Given the description of an element on the screen output the (x, y) to click on. 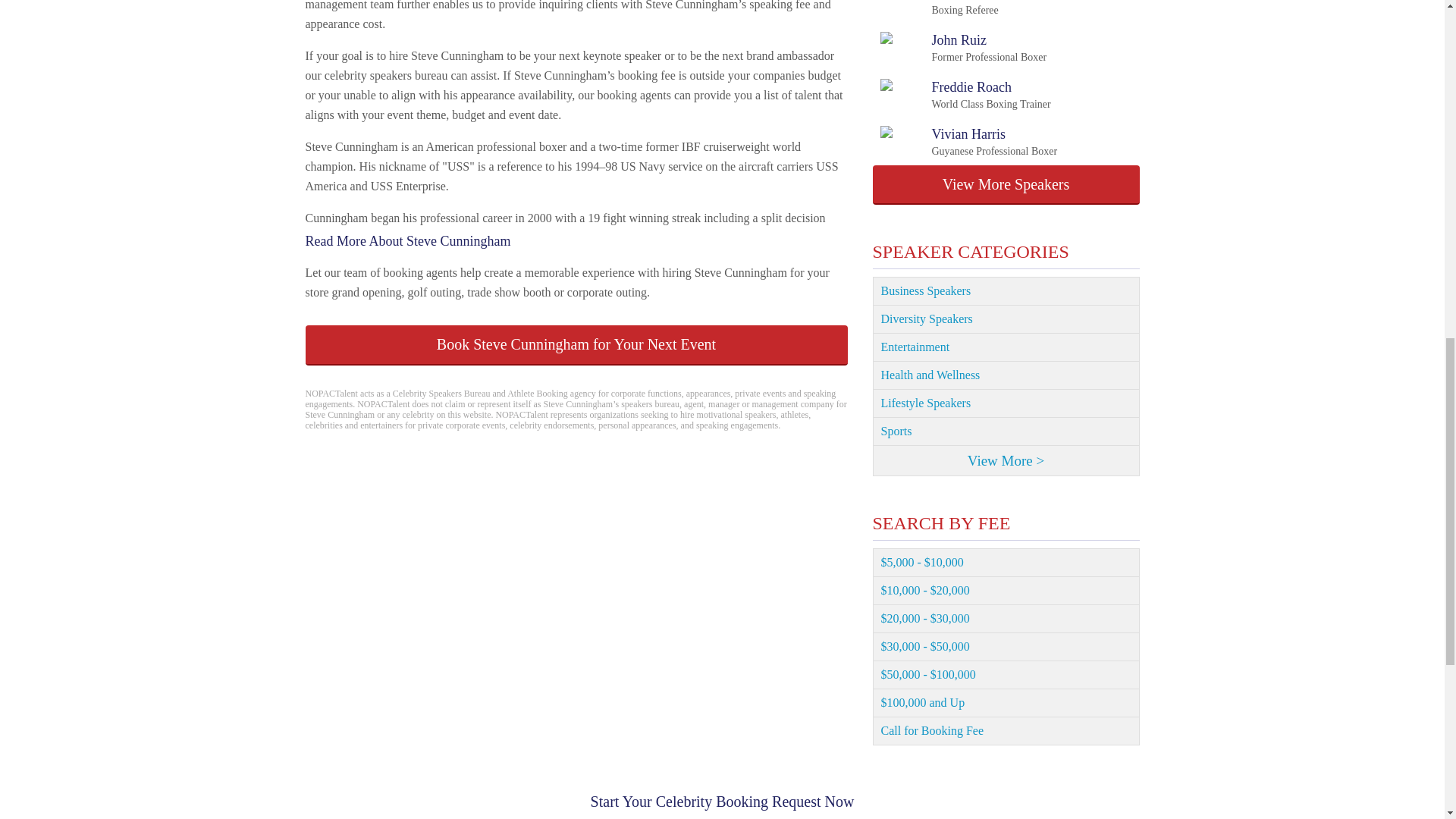
View More Speakers (1005, 184)
Business Speakers (1005, 290)
Book Steve Cunningham for Your Next Event (575, 345)
Entertainment (1005, 347)
Health and Wellness (962, 47)
Lifestyle Speakers (964, 94)
Sports (1005, 375)
Diversity Speakers (1005, 403)
